Given the description of an element on the screen output the (x, y) to click on. 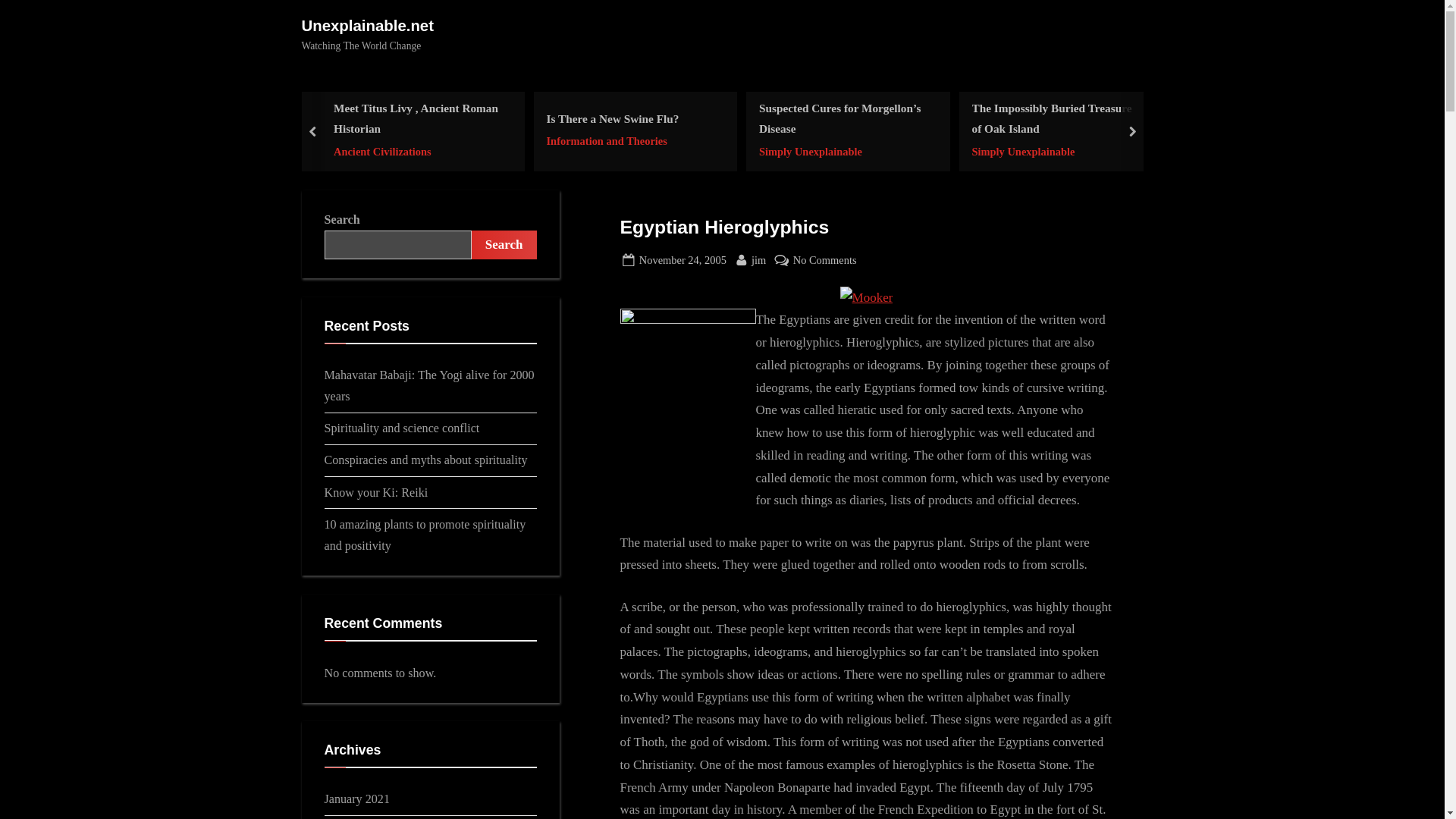
Meet Titus Livy , Ancient Roman Historian (417, 118)
Simply Unexplainable (842, 150)
Is There a New Swine Flu? (825, 260)
The Impossibly Buried Treasure of Oak Island (612, 118)
Ancient Civilizations (682, 260)
Simply Unexplainable (1055, 118)
Information and Theories (417, 150)
Unexplainable.net (1055, 150)
